Given the description of an element on the screen output the (x, y) to click on. 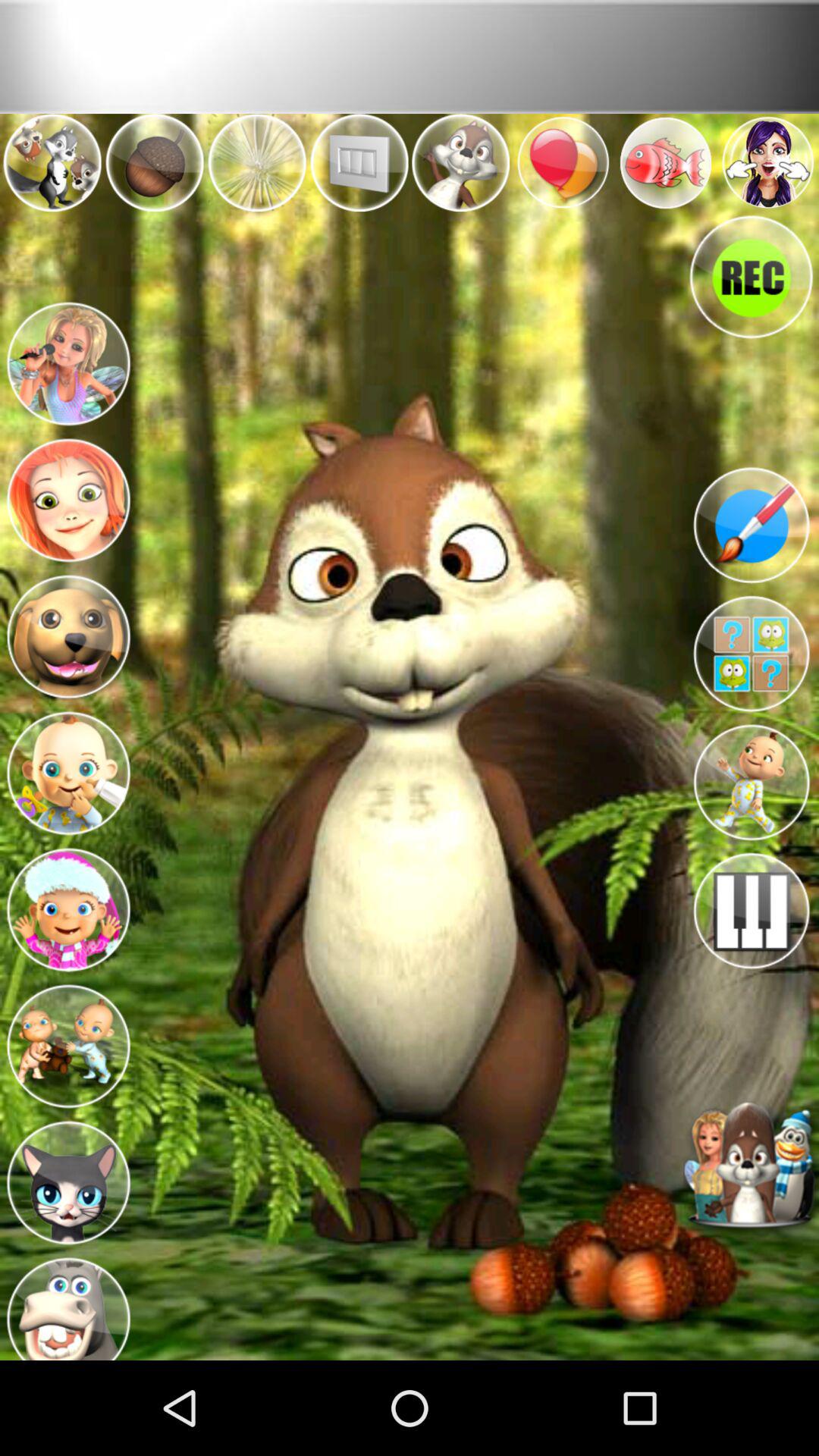
select character (68, 1178)
